Given the description of an element on the screen output the (x, y) to click on. 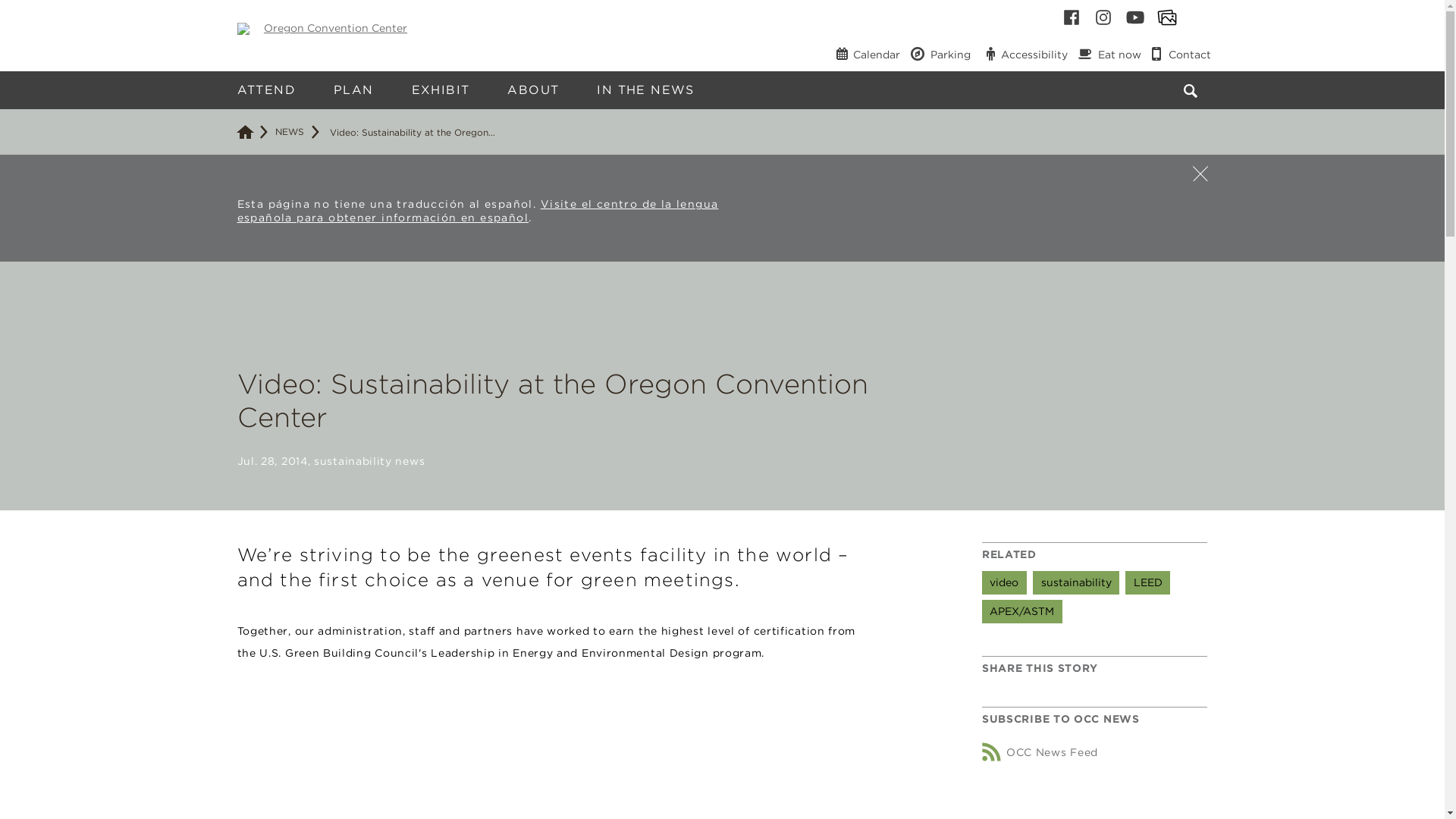
PLAN (353, 89)
Flickr (1166, 17)
ABOUT (532, 89)
YouTube (1135, 17)
OCC News Feed (1039, 752)
ATTEND (266, 89)
Calendar (867, 54)
Parking (940, 54)
Search (1222, 81)
Facebook (1071, 17)
